Given the description of an element on the screen output the (x, y) to click on. 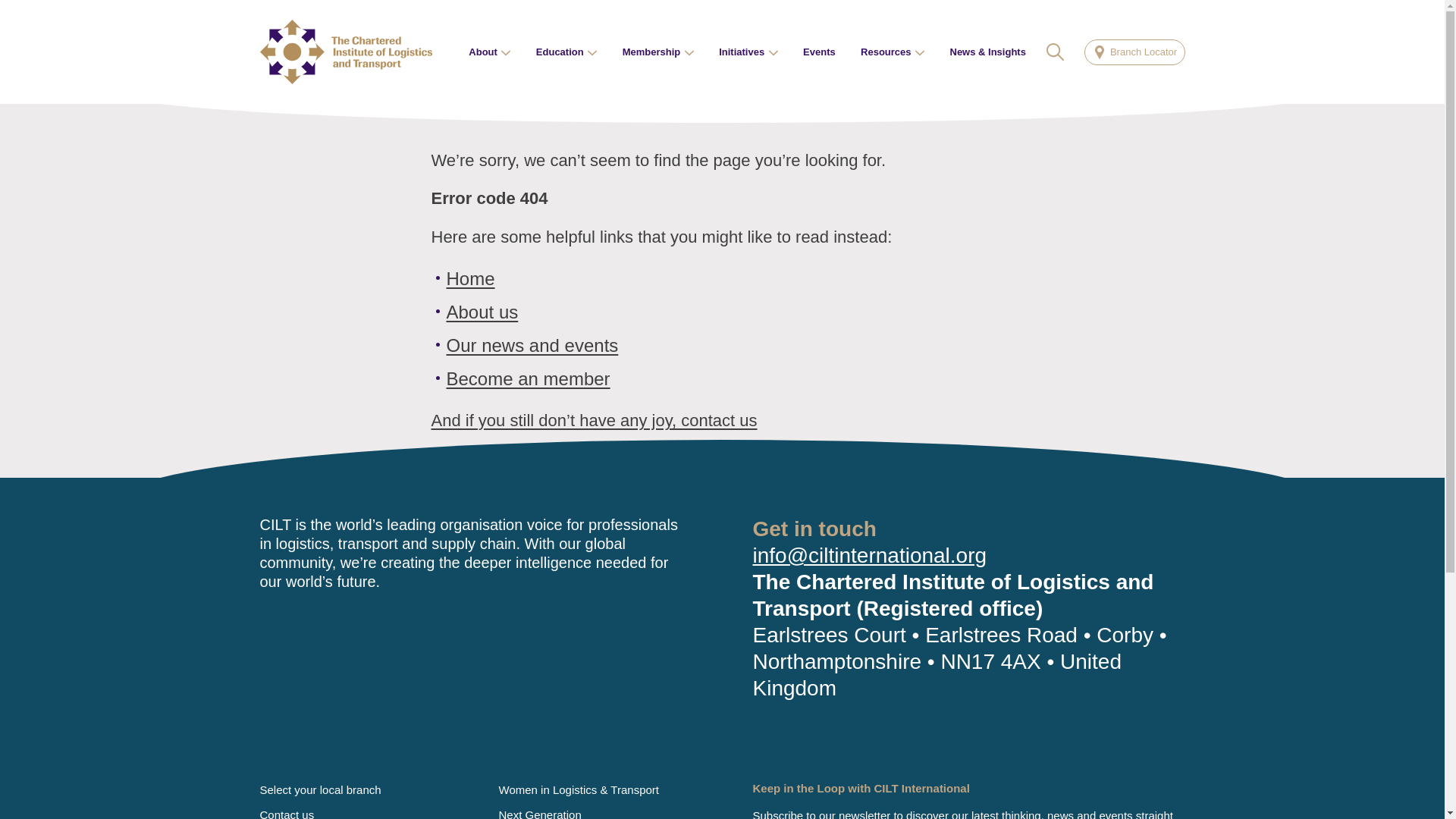
About us (481, 312)
Branch Locator (1134, 52)
Our news and events (531, 344)
Membership (658, 52)
Home (470, 278)
